Given the description of an element on the screen output the (x, y) to click on. 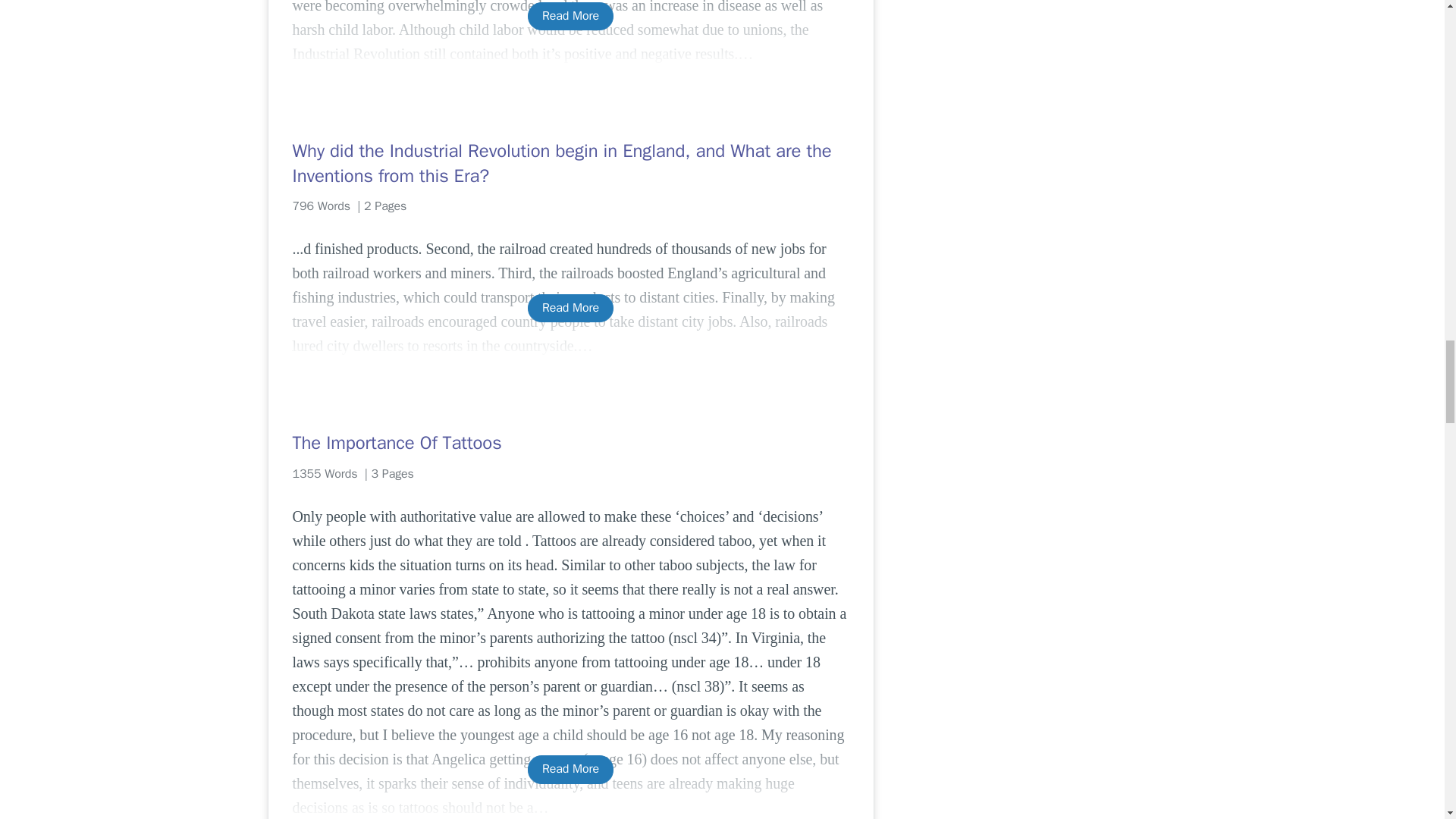
The Importance Of Tattoos (570, 442)
Read More (569, 308)
Read More (569, 768)
Read More (569, 16)
